Given the description of an element on the screen output the (x, y) to click on. 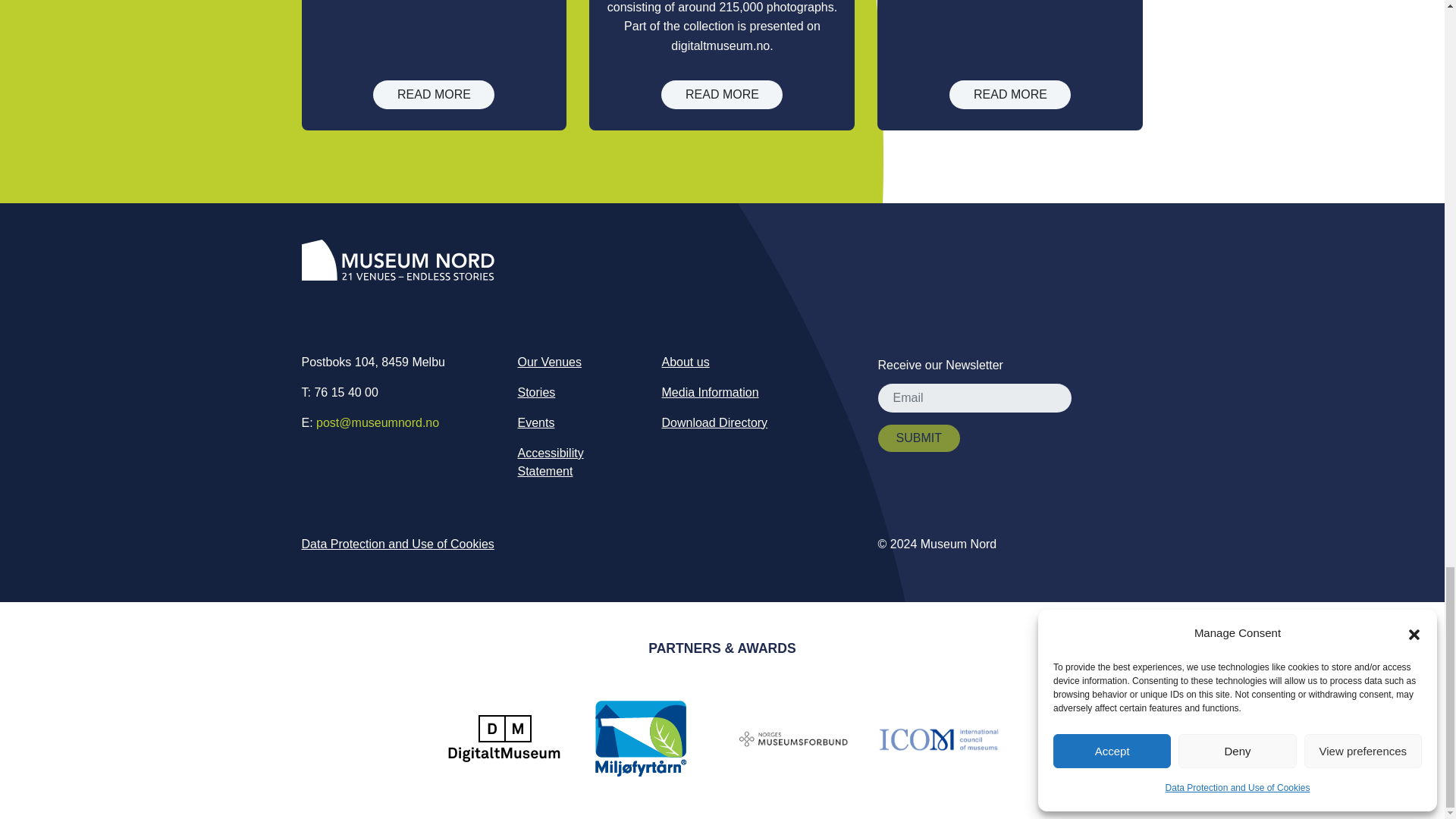
Casting model (1009, 94)
Carbide lantern (433, 94)
Narvik Municipal Photo Collection (722, 94)
